Given the description of an element on the screen output the (x, y) to click on. 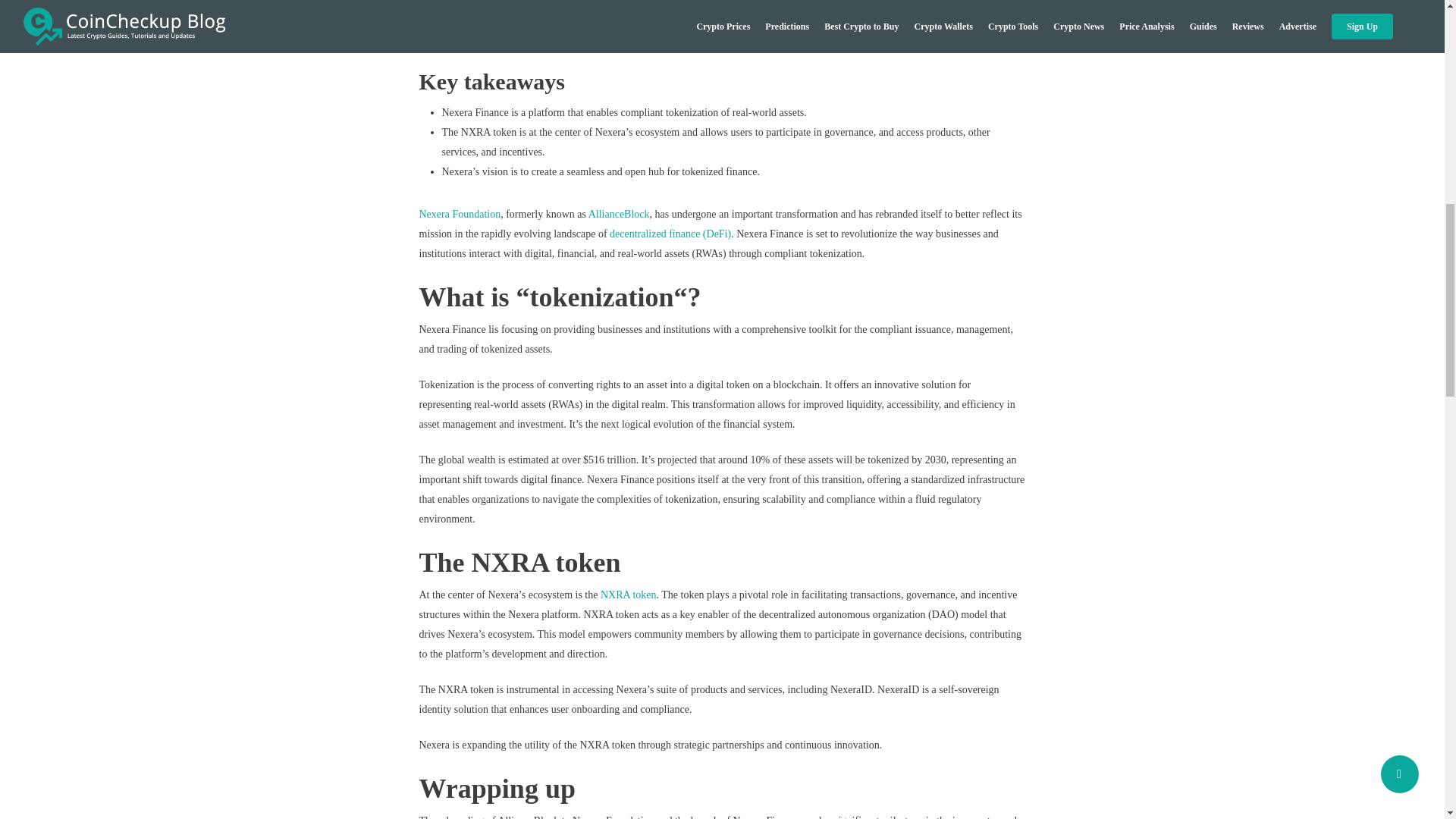
Nexera Foundation (459, 214)
NXRA token (627, 594)
AllianceBlock (618, 214)
